Given the description of an element on the screen output the (x, y) to click on. 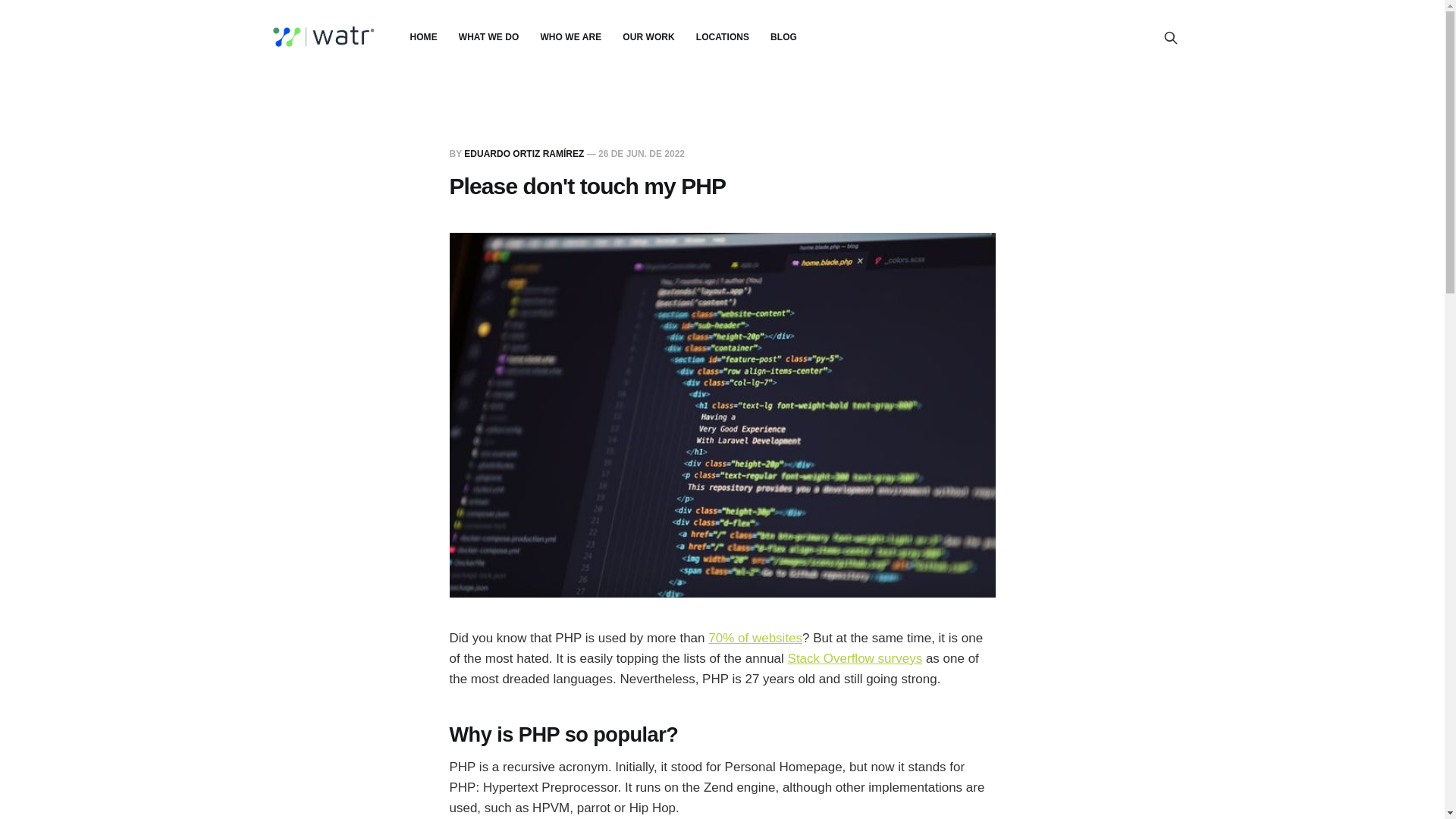
LOCATIONS (722, 36)
Stack Overflow surveys (855, 658)
HOME (422, 36)
WHAT WE DO (488, 36)
OUR WORK (648, 36)
BLOG (783, 36)
WHO WE ARE (570, 36)
